Given the description of an element on the screen output the (x, y) to click on. 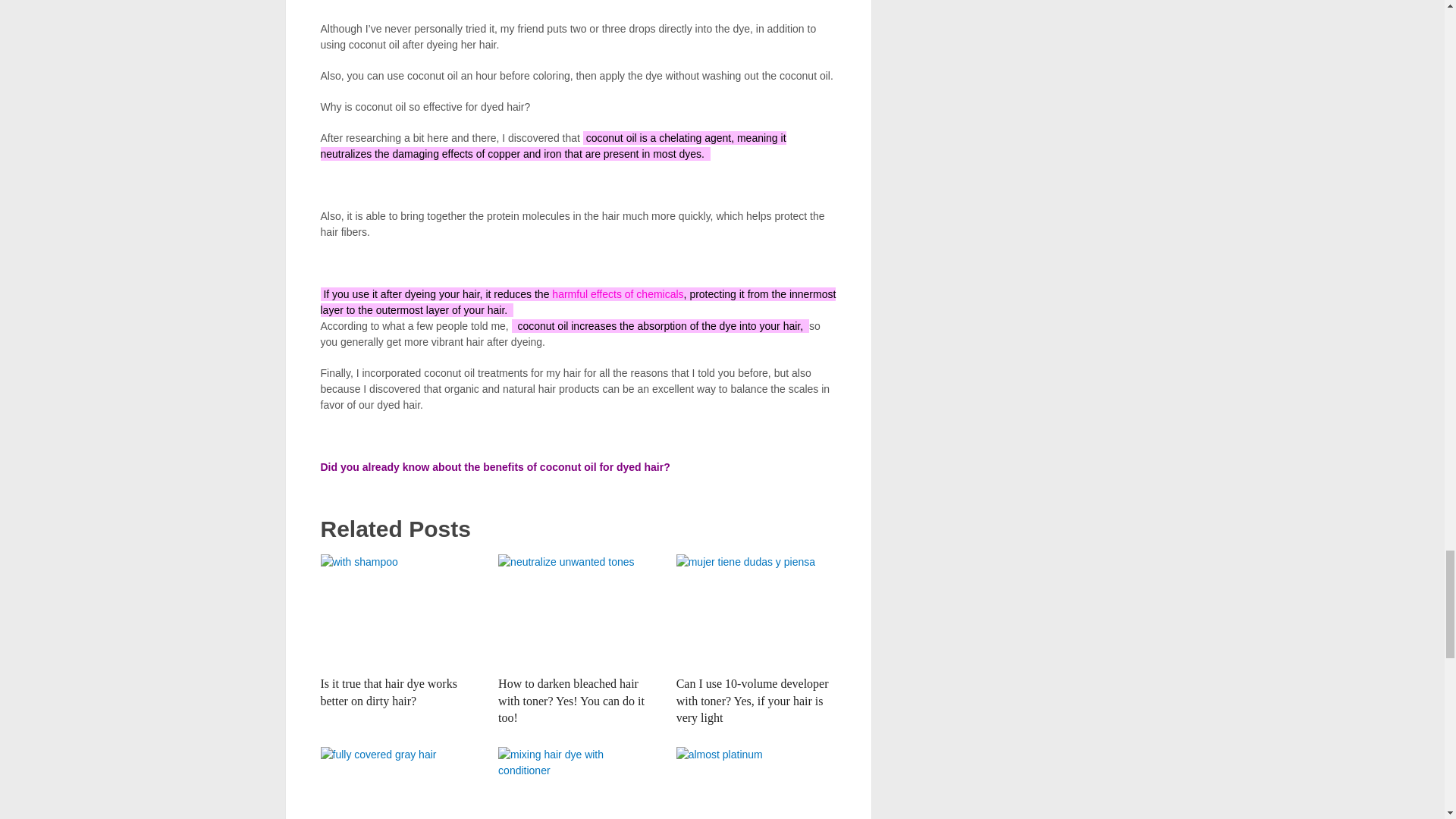
harmful effects of chemicals (616, 294)
Is it true that hair dye works better on dirty hair? (400, 611)
Is it true that hair dye works better on dirty hair? (388, 691)
